Given the description of an element on the screen output the (x, y) to click on. 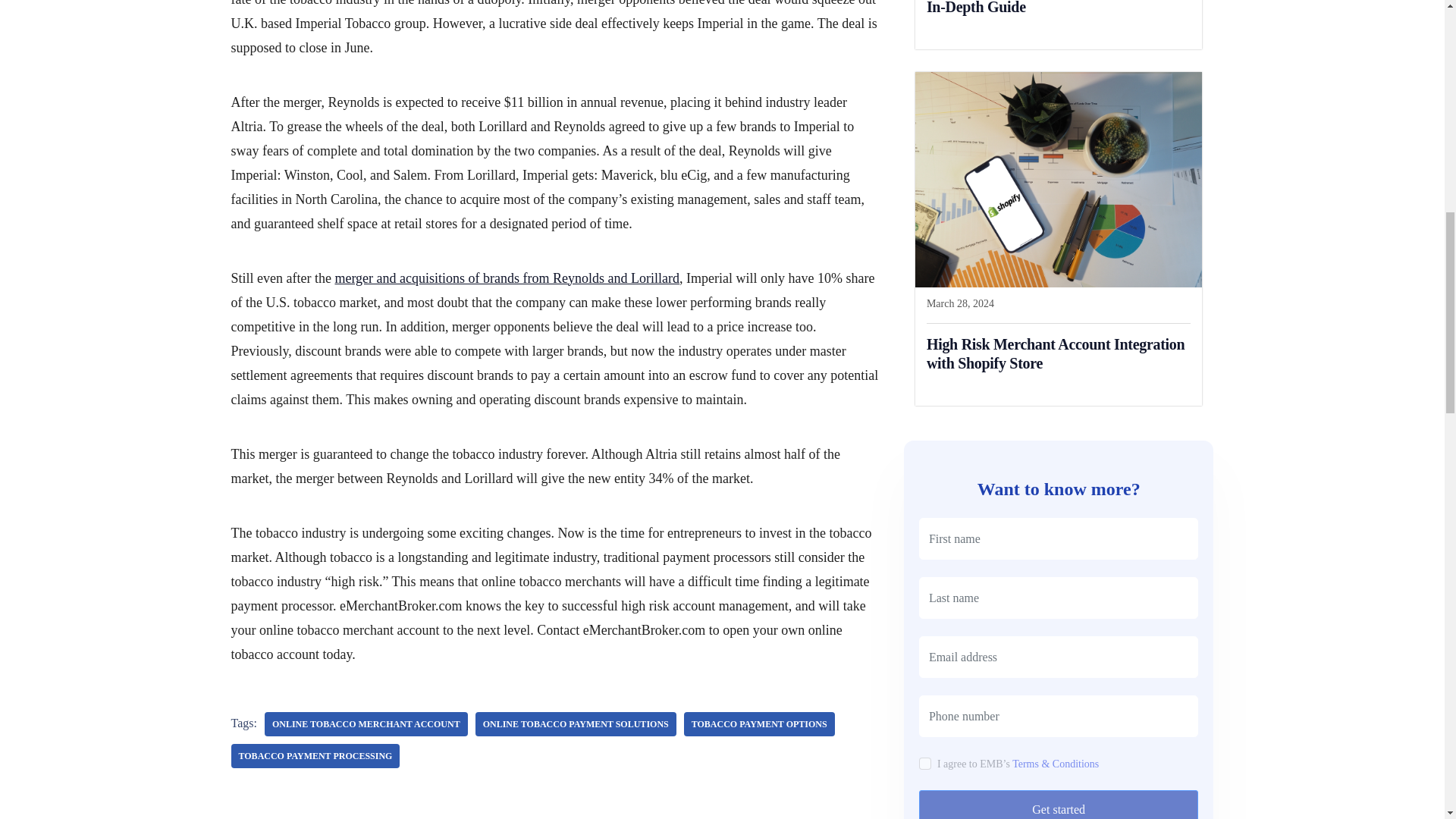
Tobacco payment options (759, 723)
Online tobacco payment solutions (576, 723)
Tobacco Payment Processing (314, 755)
online tobacco merchant account (365, 723)
